Given the description of an element on the screen output the (x, y) to click on. 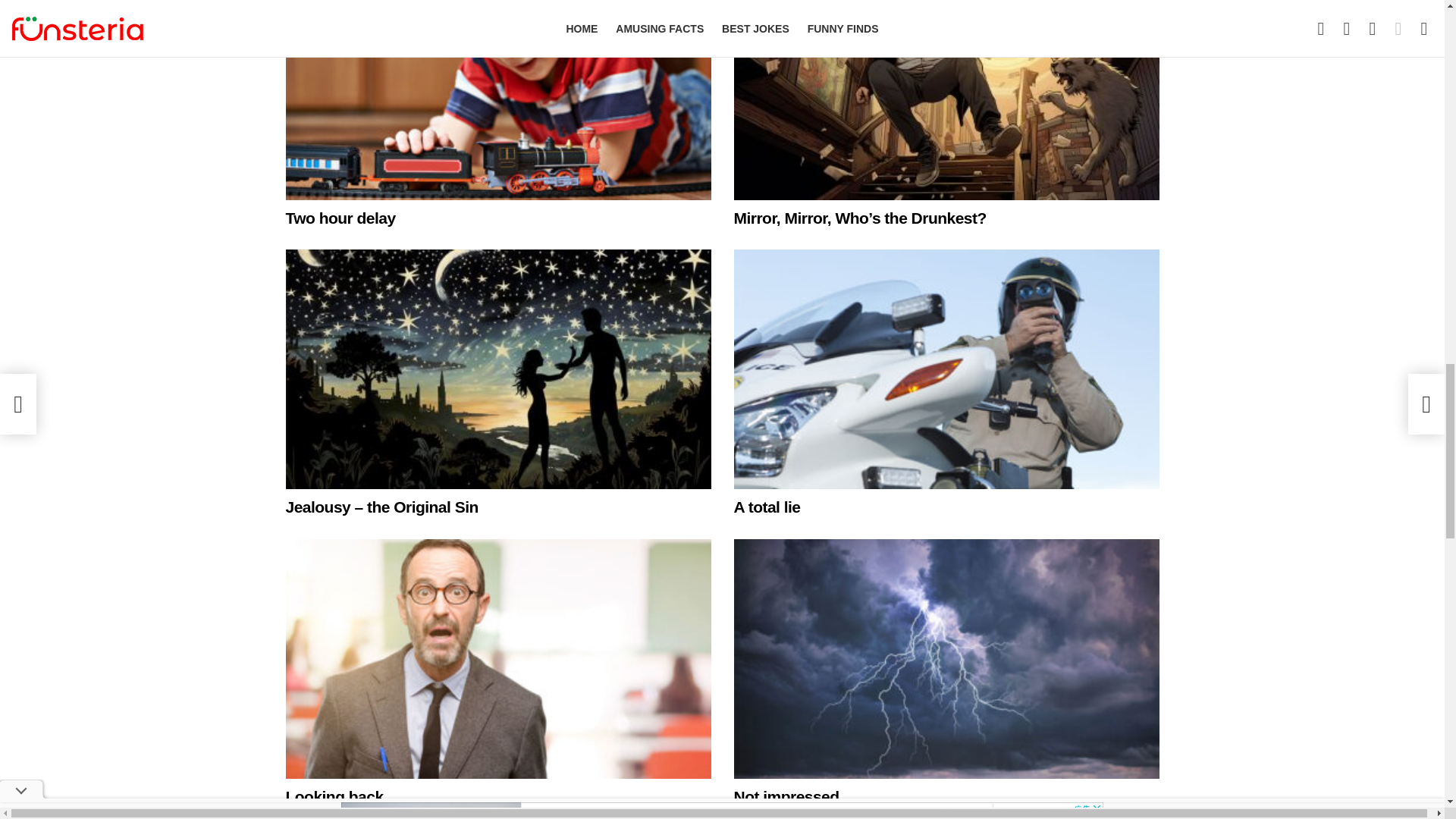
A total lie (766, 506)
Two hour delay (497, 99)
Not impressed (786, 796)
A total lie (945, 368)
Not impressed (945, 658)
Two hour delay (339, 217)
